Given the description of an element on the screen output the (x, y) to click on. 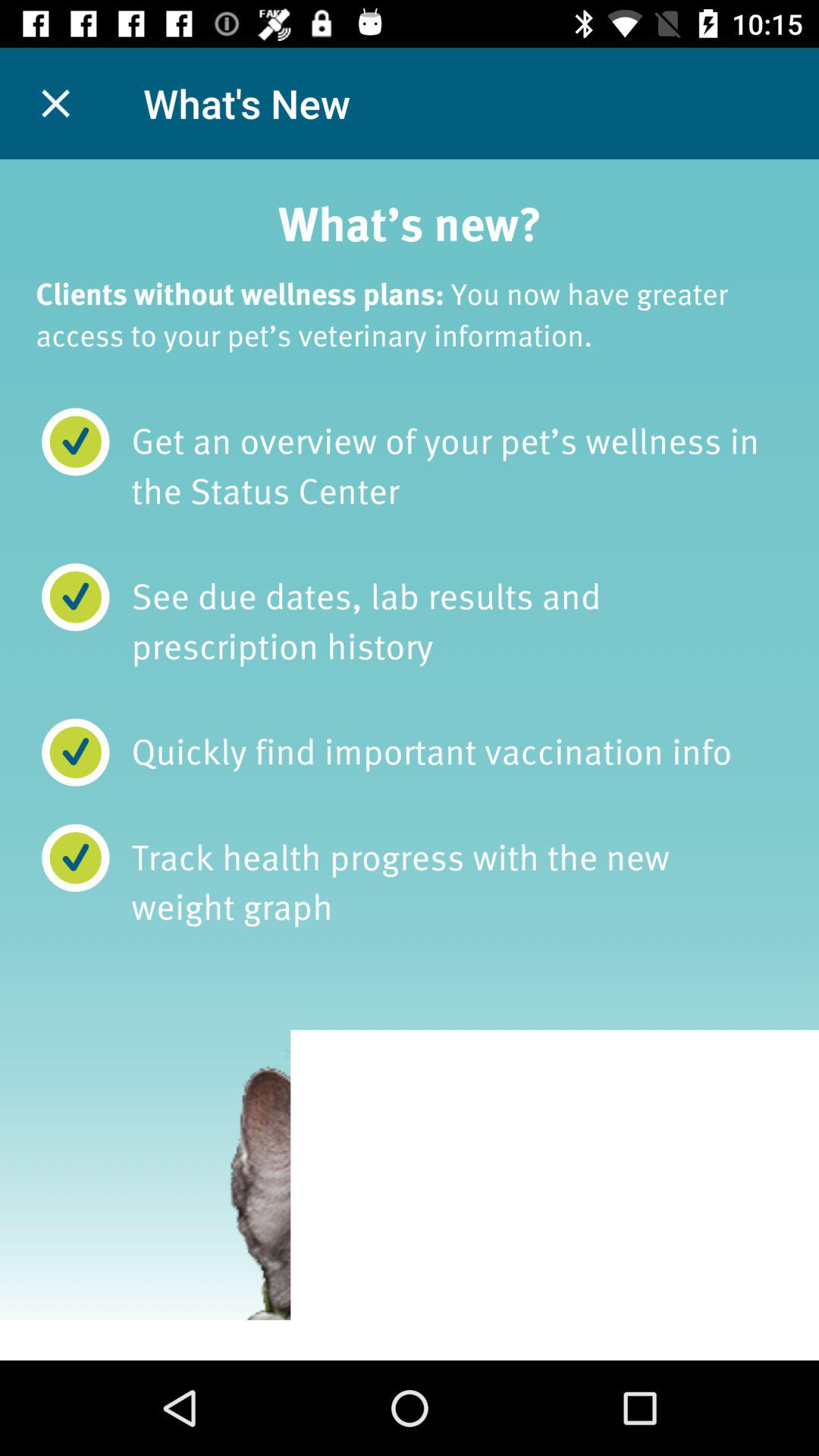
instruction (409, 759)
